Given the description of an element on the screen output the (x, y) to click on. 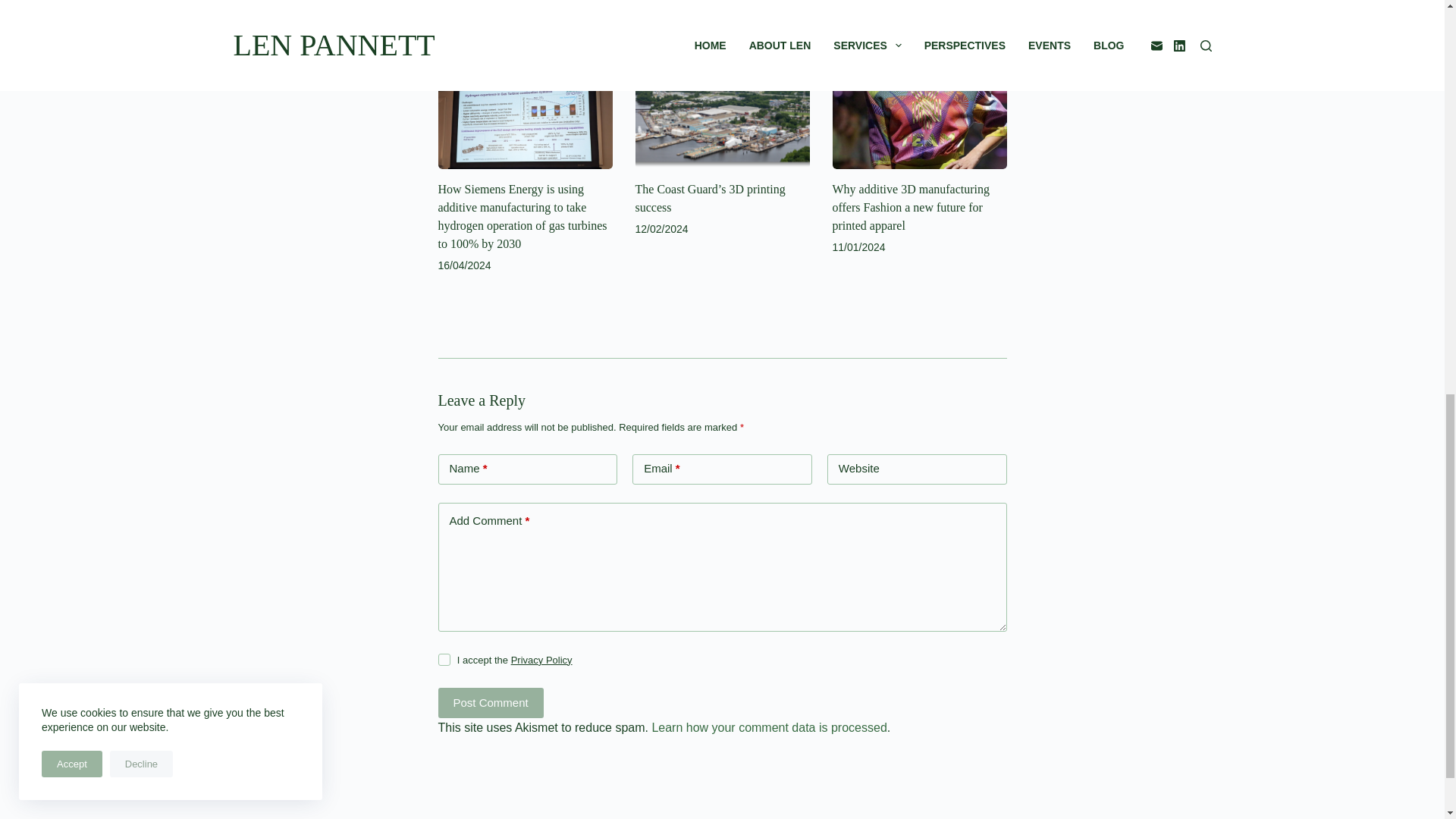
on (443, 659)
